Given the description of an element on the screen output the (x, y) to click on. 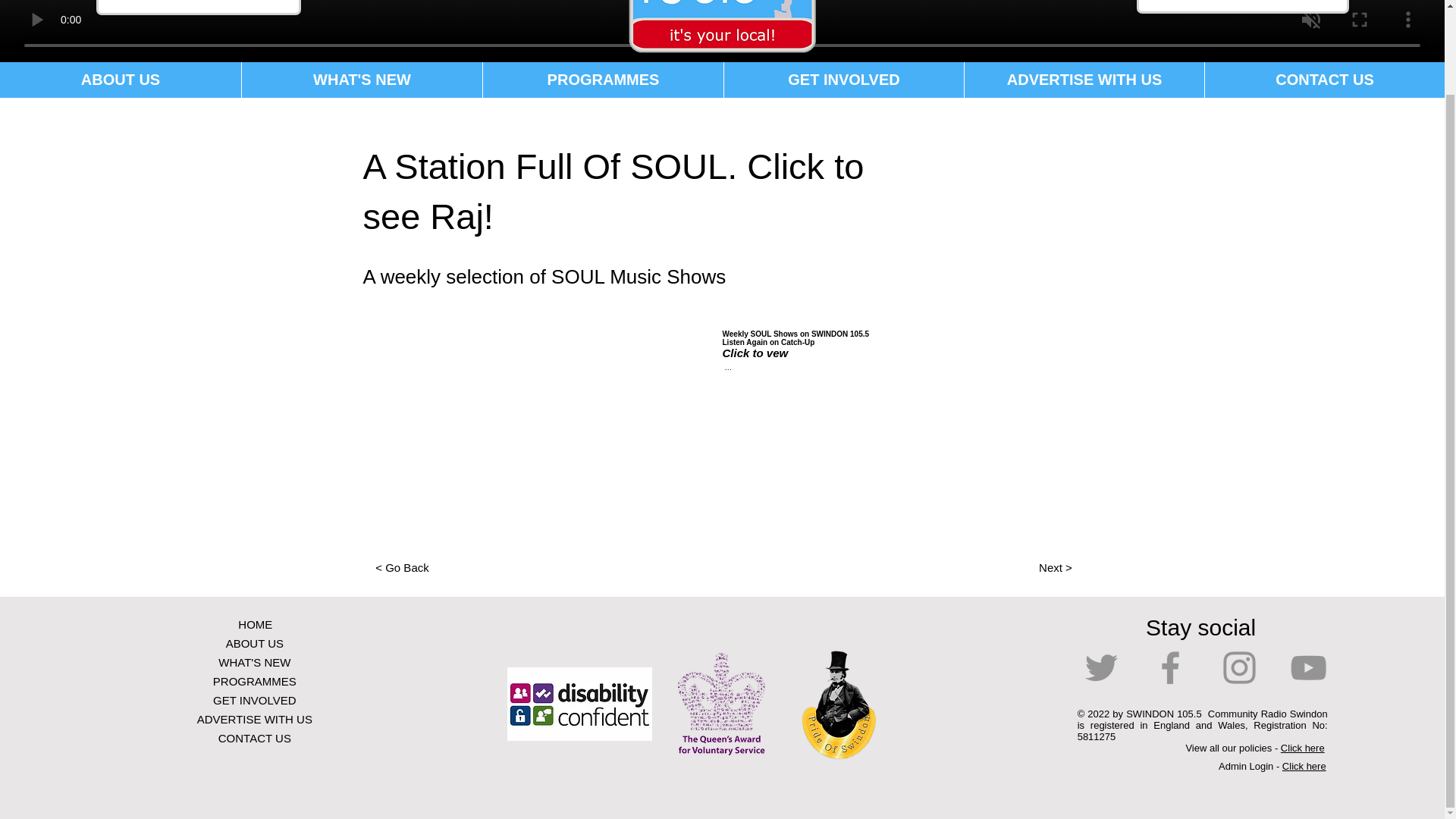
HOME (255, 624)
ADVERTISE WITH US (254, 719)
ADVERTISE WITH US (1083, 79)
CONTACT US (254, 737)
